Given the description of an element on the screen output the (x, y) to click on. 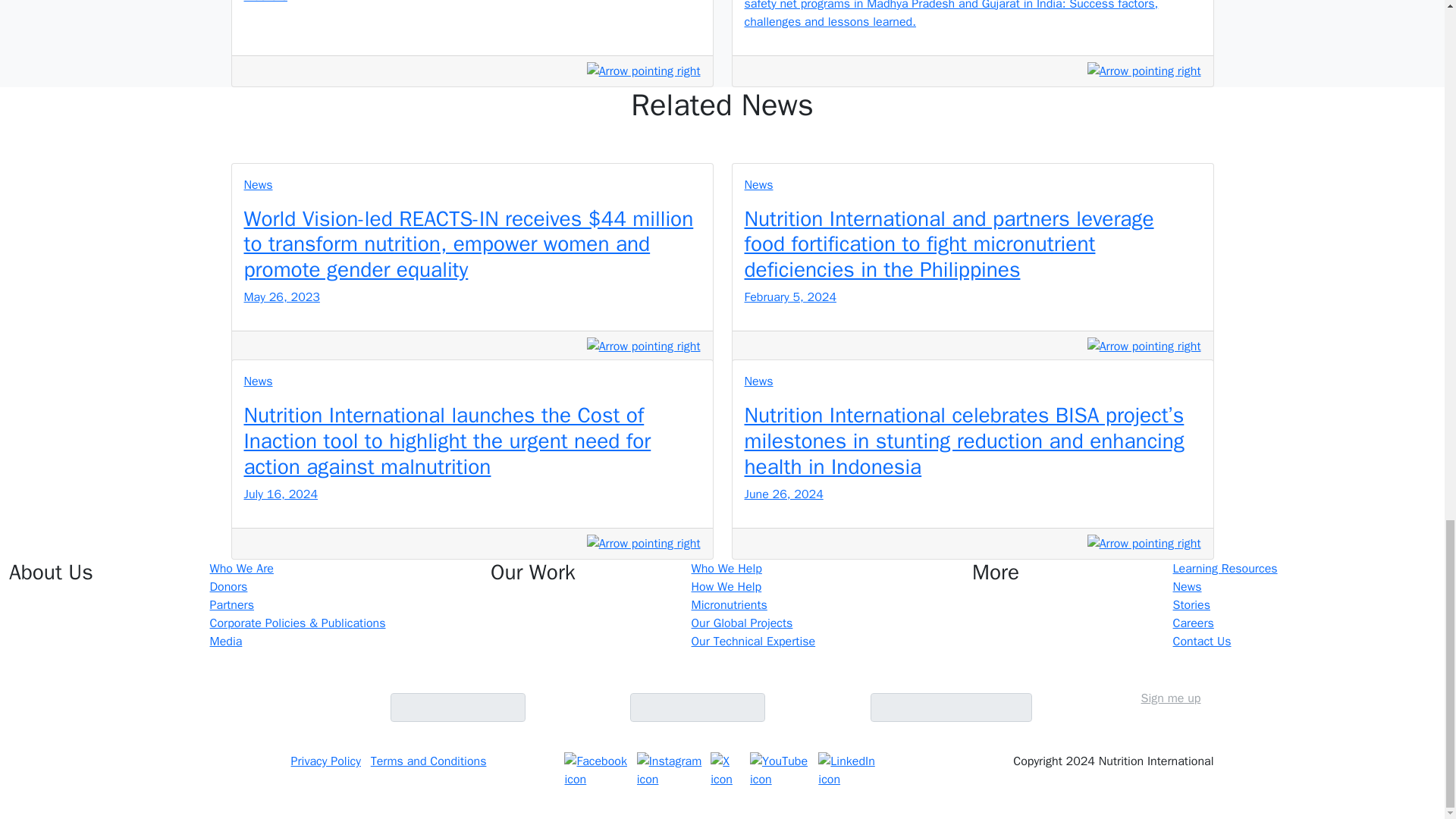
Who We Are (241, 568)
